Given the description of an element on the screen output the (x, y) to click on. 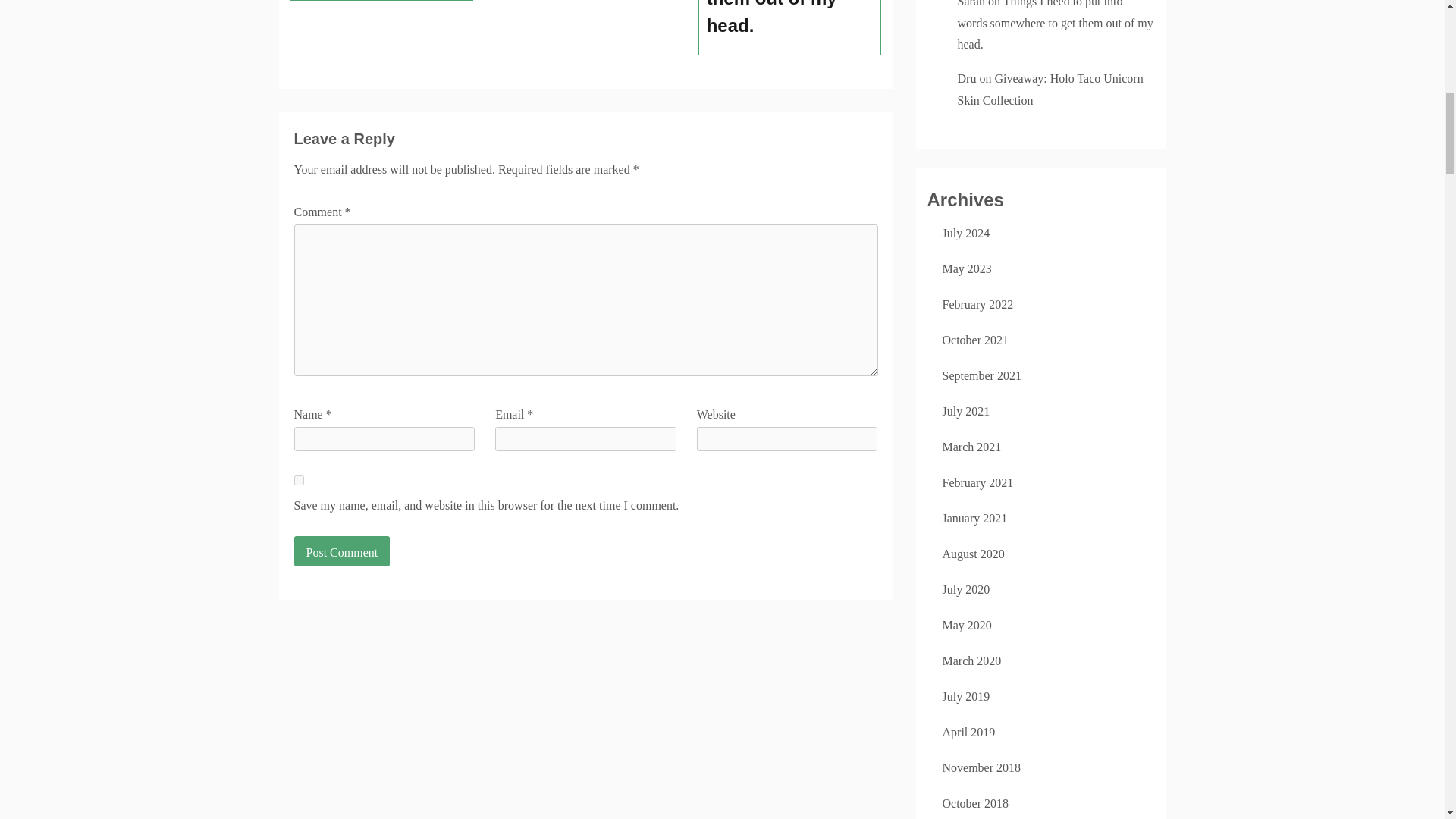
September 2021 (981, 375)
February 2021 (977, 481)
March 2021 (971, 446)
January 2021 (974, 517)
July 2020 (966, 589)
August 2020 (973, 553)
yes (299, 480)
July 2021 (966, 410)
May 2023 (966, 268)
Giveaway: Holo Taco Unicorn Skin Collection (1049, 89)
February 2022 (977, 304)
March 2020 (971, 660)
May 2020 (966, 625)
